Given the description of an element on the screen output the (x, y) to click on. 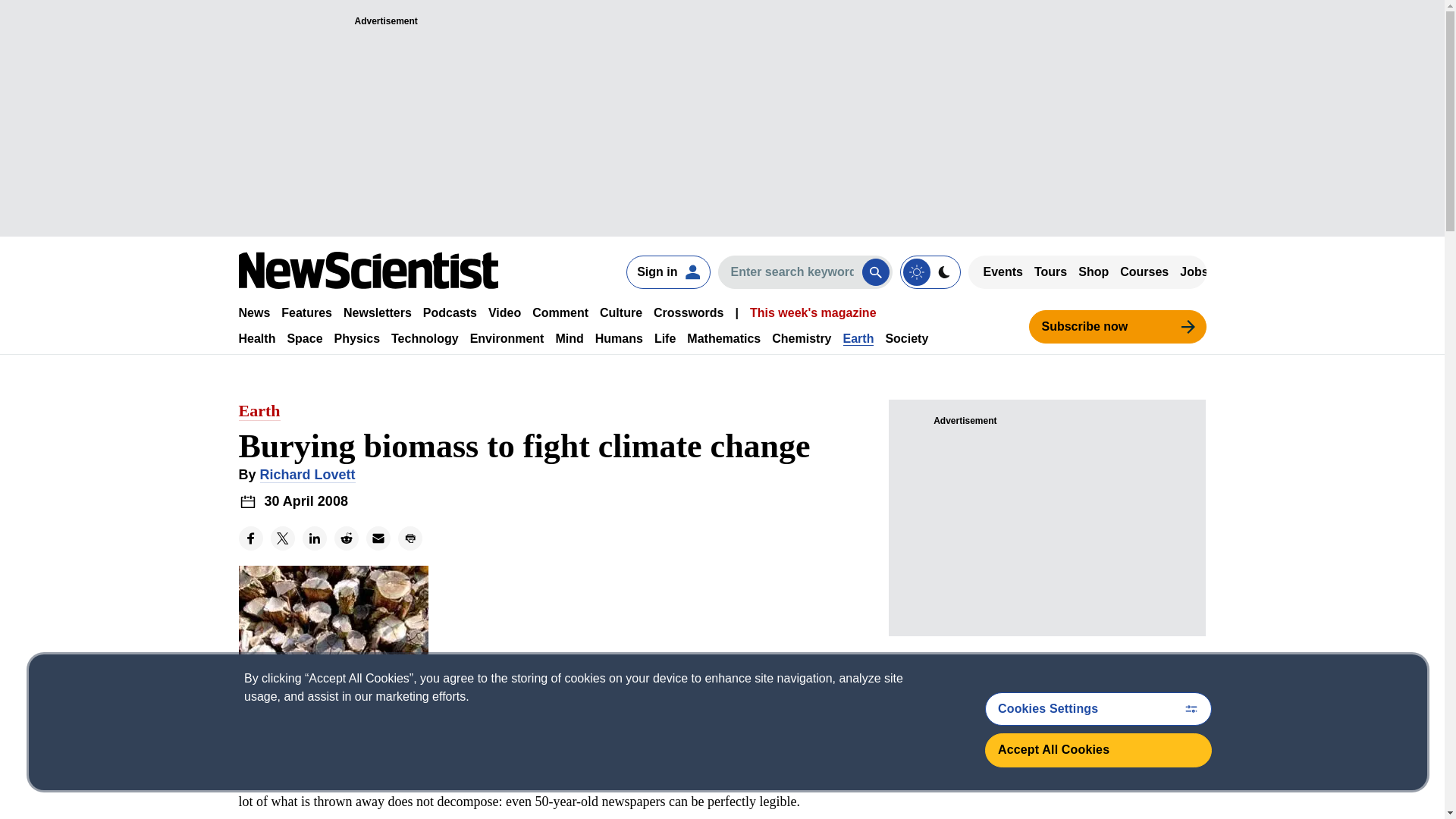
on (929, 272)
Features (306, 313)
Humans (619, 338)
Mathematics (723, 338)
Link to the homepage (367, 270)
Society (906, 338)
Physics (357, 338)
Mind (568, 338)
Sign in (668, 272)
This week's magazine (812, 313)
Newsletters (377, 313)
Jobs (1193, 272)
Earth (859, 338)
3rd party ad content (1046, 524)
